Given the description of an element on the screen output the (x, y) to click on. 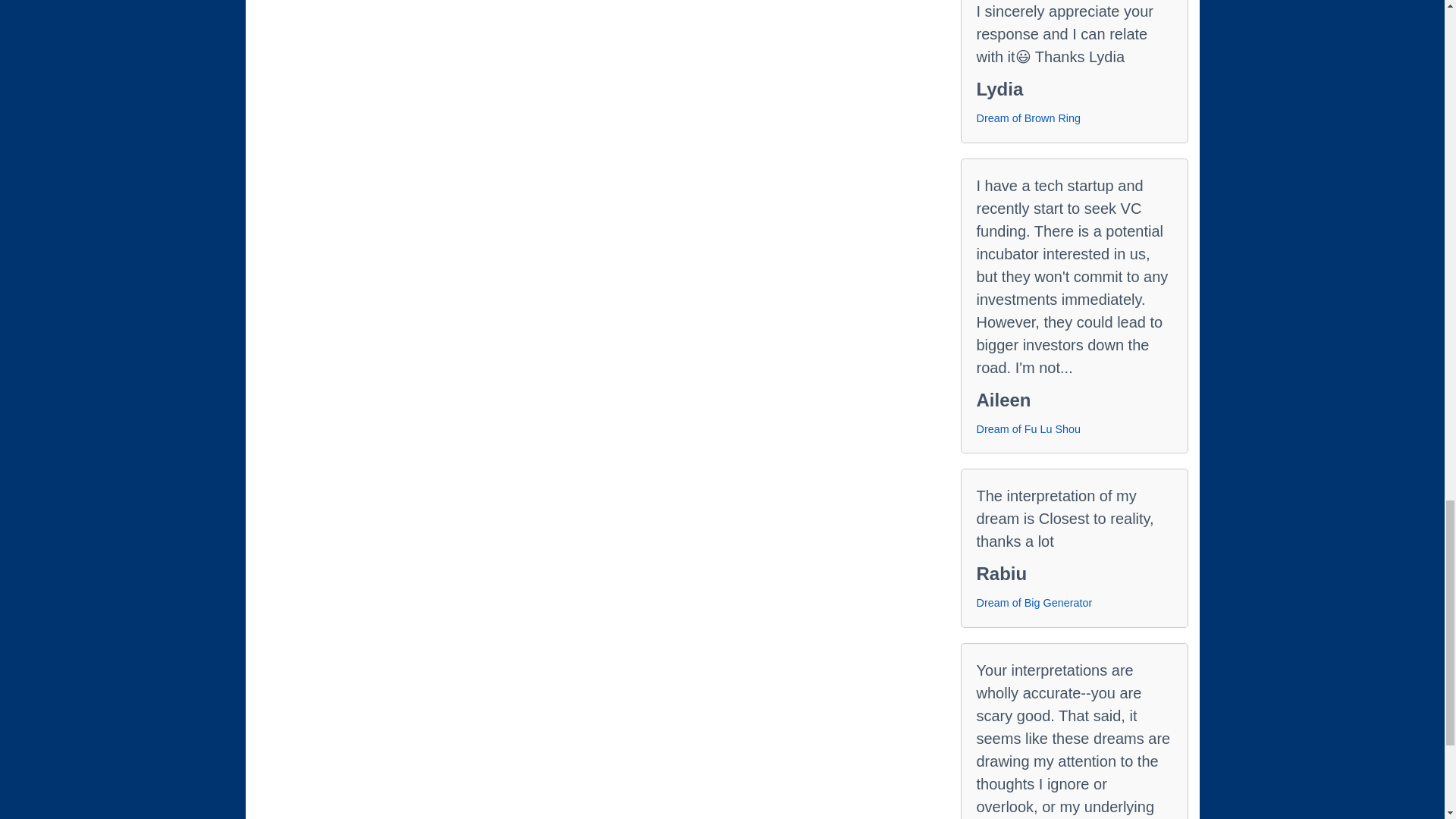
Dream of Fu Lu Shou (1028, 429)
Dream of Brown Ring (1028, 118)
Dream of Big Generator (1034, 603)
